Given the description of an element on the screen output the (x, y) to click on. 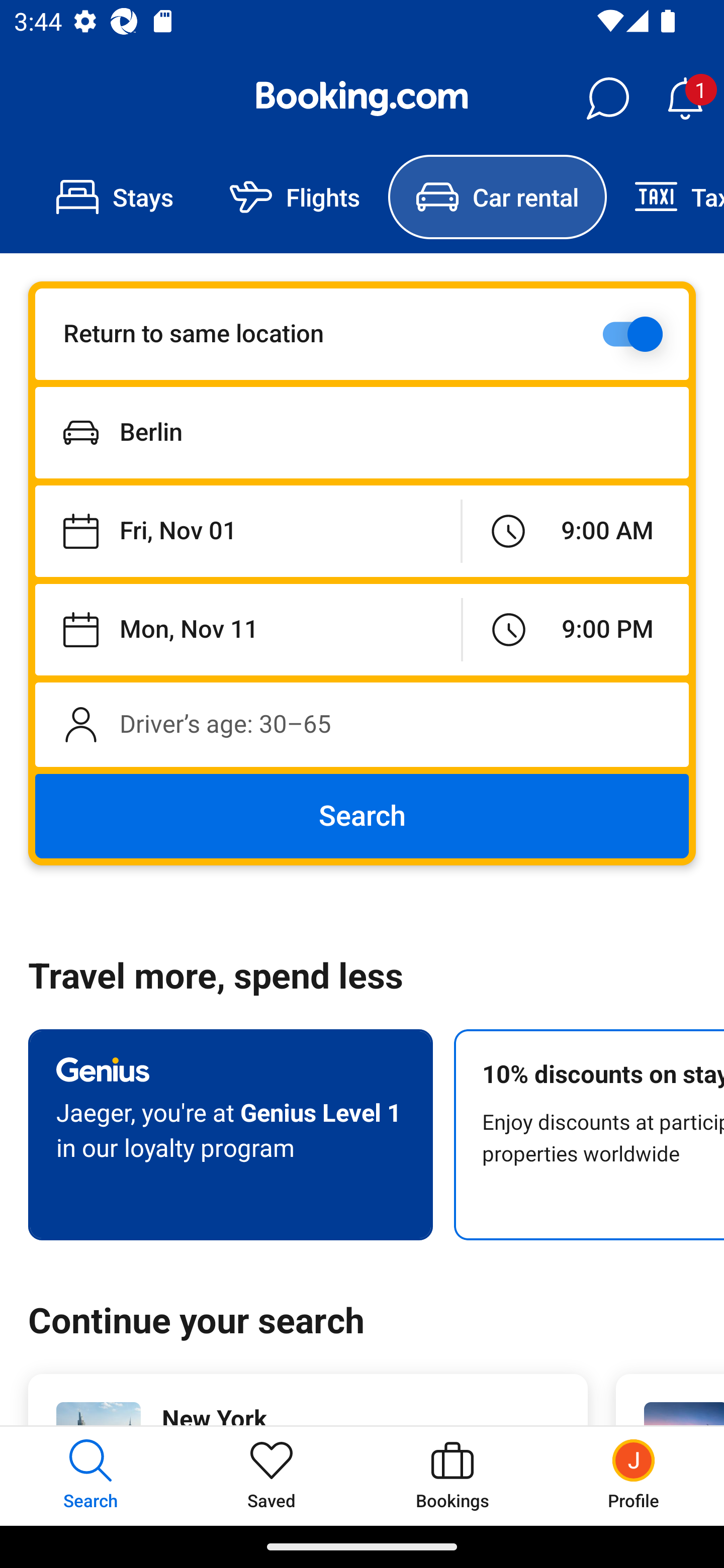
Messages (607, 98)
Notifications (685, 98)
Stays (114, 197)
Flights (294, 197)
Car rental (497, 197)
Taxi (665, 197)
Pick-up location: Text(name=Berlin) (361, 432)
Pick-up date: 2024-11-01 (247, 531)
Pick-up time: 09:00:00.000 (575, 531)
Drop-off date: 2024-11-11 (248, 629)
Drop-off time: 21:00:00.000 (575, 629)
Enter the driver's age (361, 724)
Search (361, 815)
Saved (271, 1475)
Bookings (452, 1475)
Profile (633, 1475)
